Given the description of an element on the screen output the (x, y) to click on. 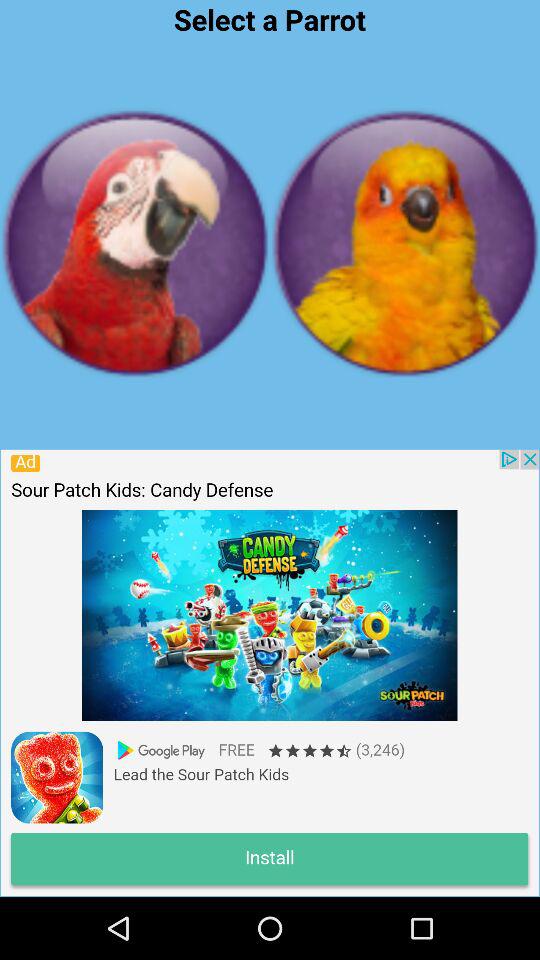
advertisement page (269, 672)
